Given the description of an element on the screen output the (x, y) to click on. 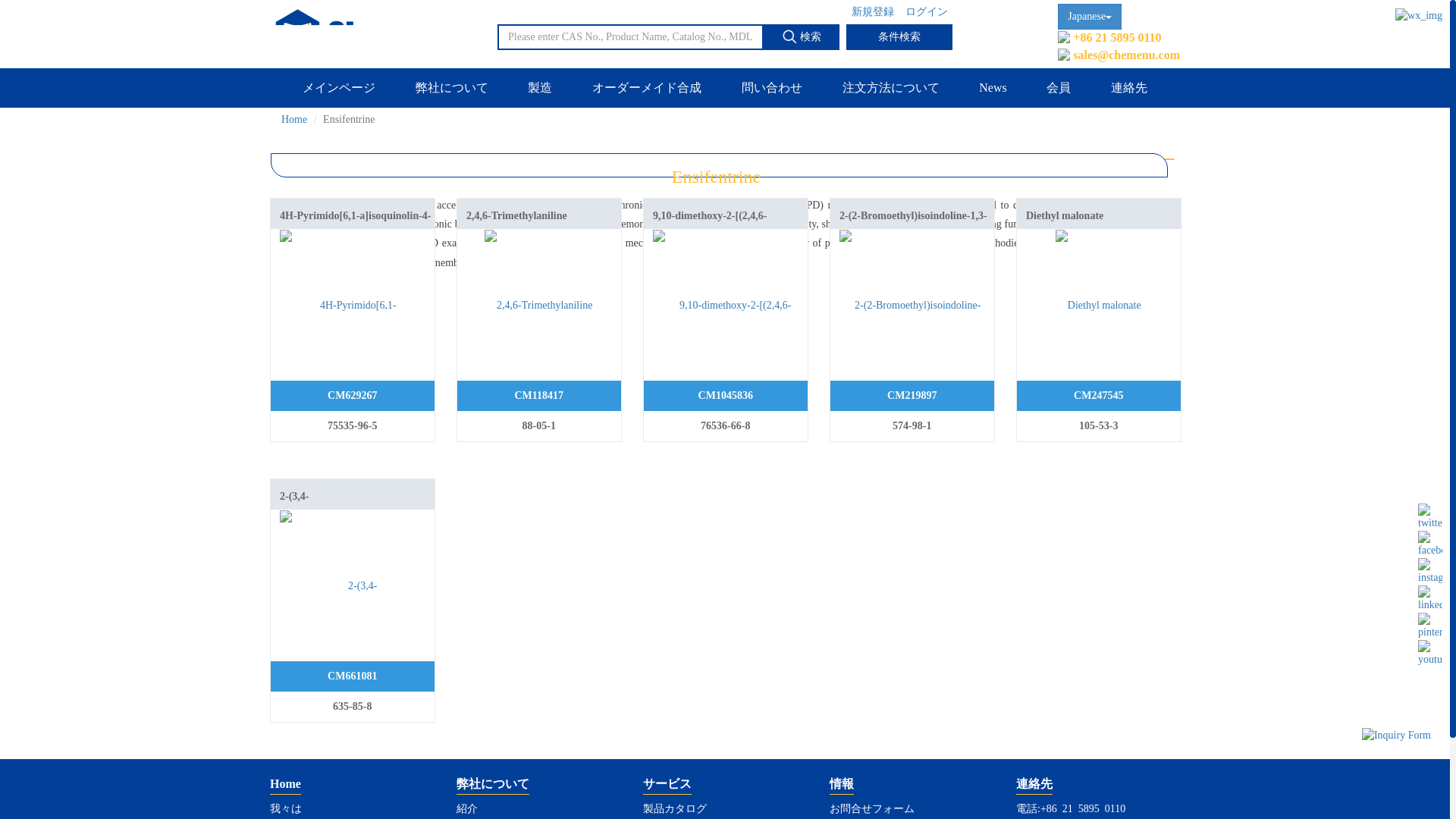
Home (285, 785)
Japanese (1089, 16)
Catalog products (667, 785)
Introduction (467, 808)
About Us (493, 785)
